Given the description of an element on the screen output the (x, y) to click on. 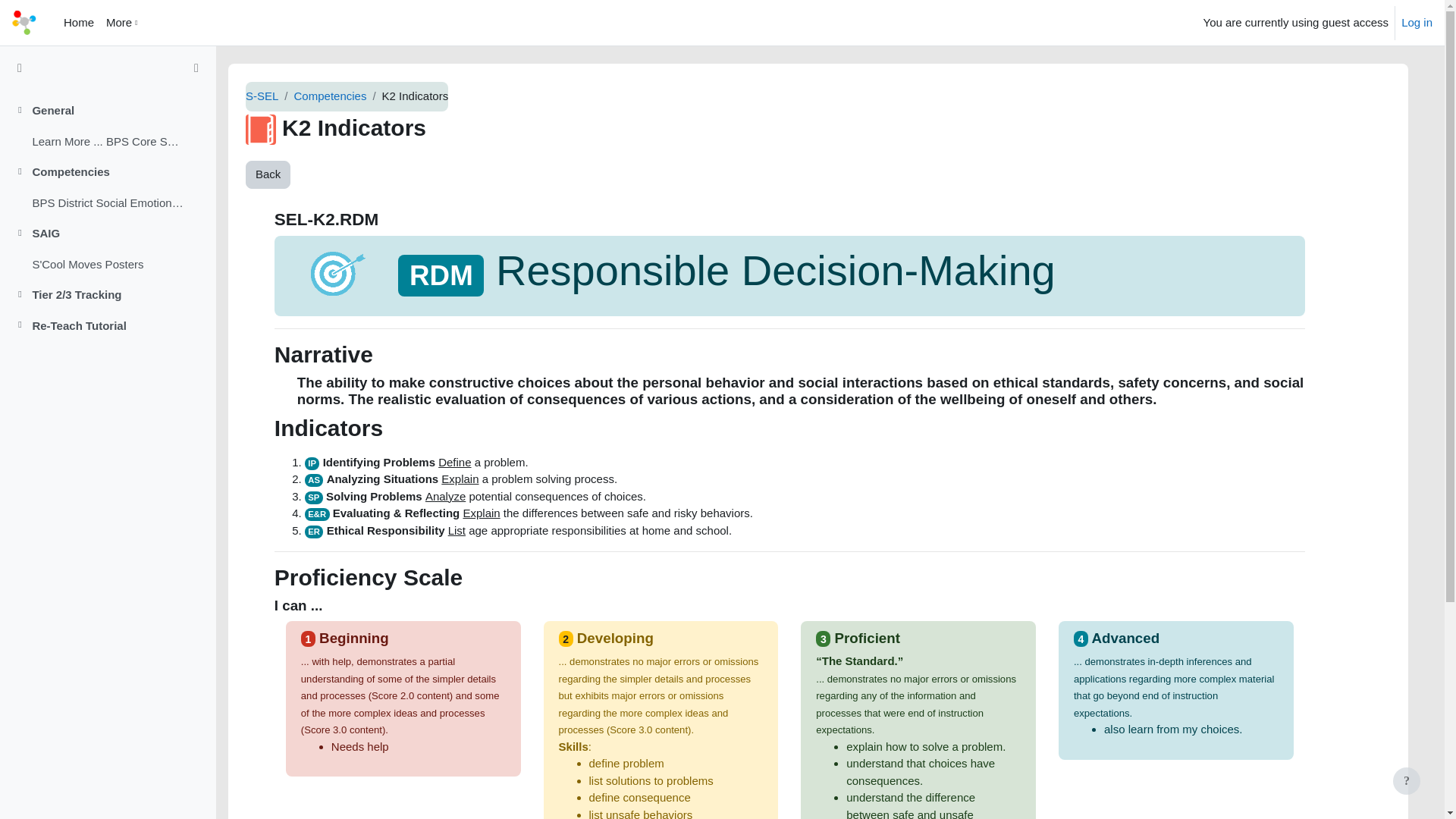
Back (267, 174)
S-SEL (262, 95)
S'Cool Moves Posters (87, 264)
Collapse (19, 326)
Collapse (22, 325)
Competencies (330, 95)
Collapse (19, 111)
Log in (1416, 22)
Competencies (71, 171)
Collapse (22, 171)
